Given the description of an element on the screen output the (x, y) to click on. 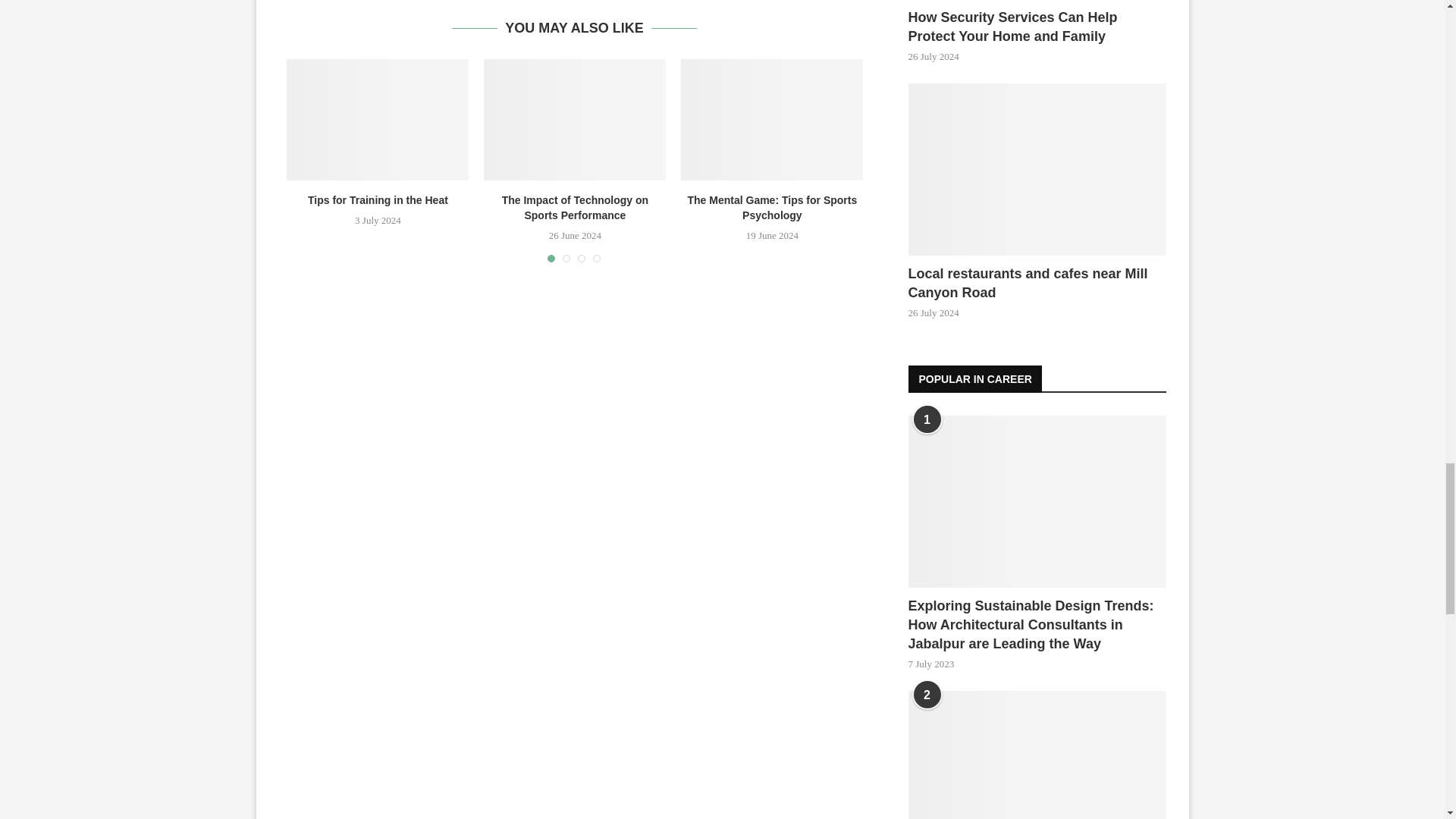
Tips for Training in the Heat (377, 119)
The Impact of Technology on Sports Performance (574, 119)
The Mental Game: Tips for Sports Psychology (772, 119)
